Given the description of an element on the screen output the (x, y) to click on. 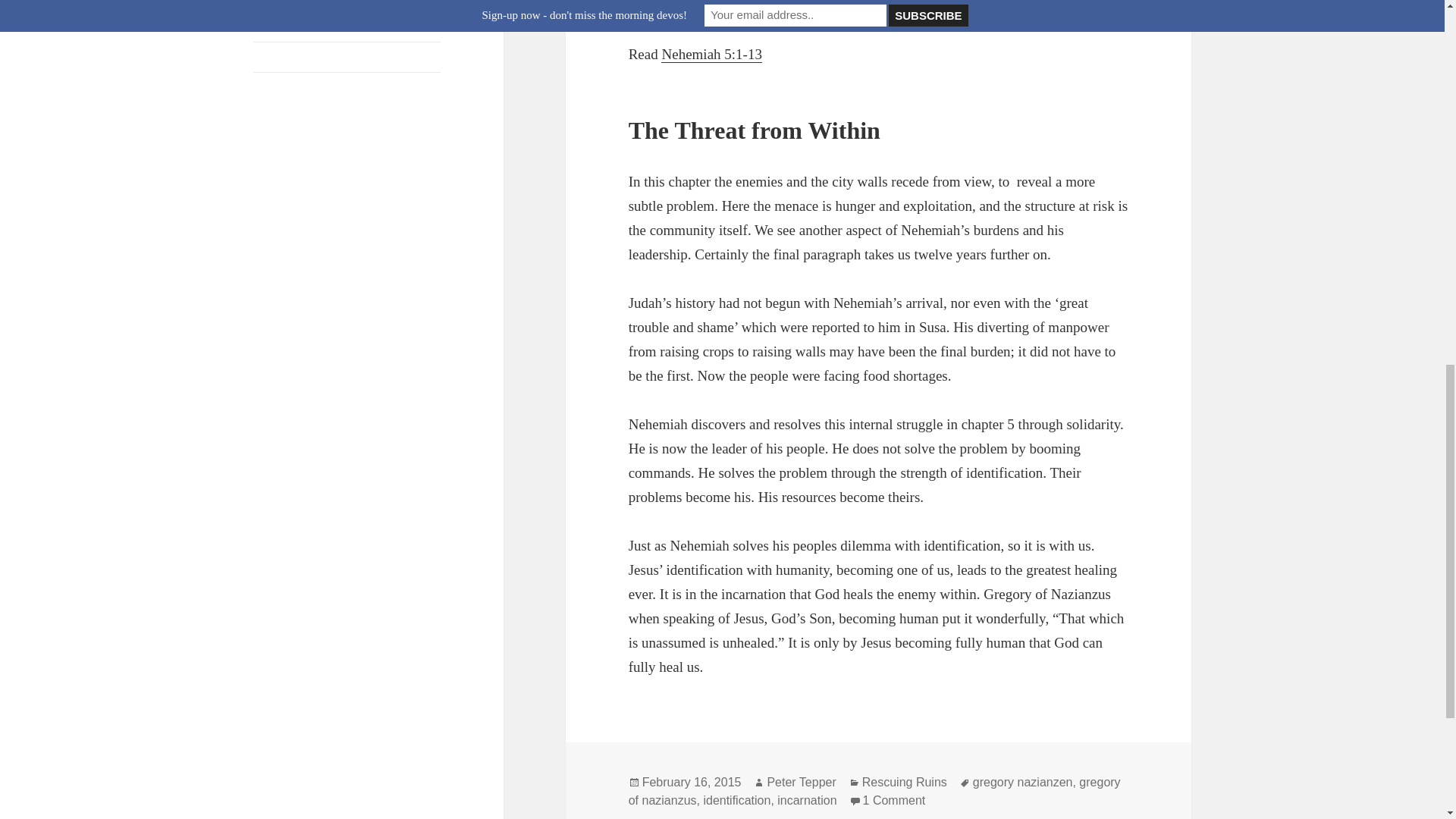
identification (736, 800)
Rescuing Ruins (904, 782)
incarnation (806, 800)
February 16, 2015 (691, 782)
Darklands and Light (303, 25)
Peter Tepper (801, 782)
Nehemiah 5:1-13 (711, 54)
Advent and Disruptive Events (325, 86)
gregory of nazianzus (874, 791)
gregory nazianzen (1022, 782)
